Given the description of an element on the screen output the (x, y) to click on. 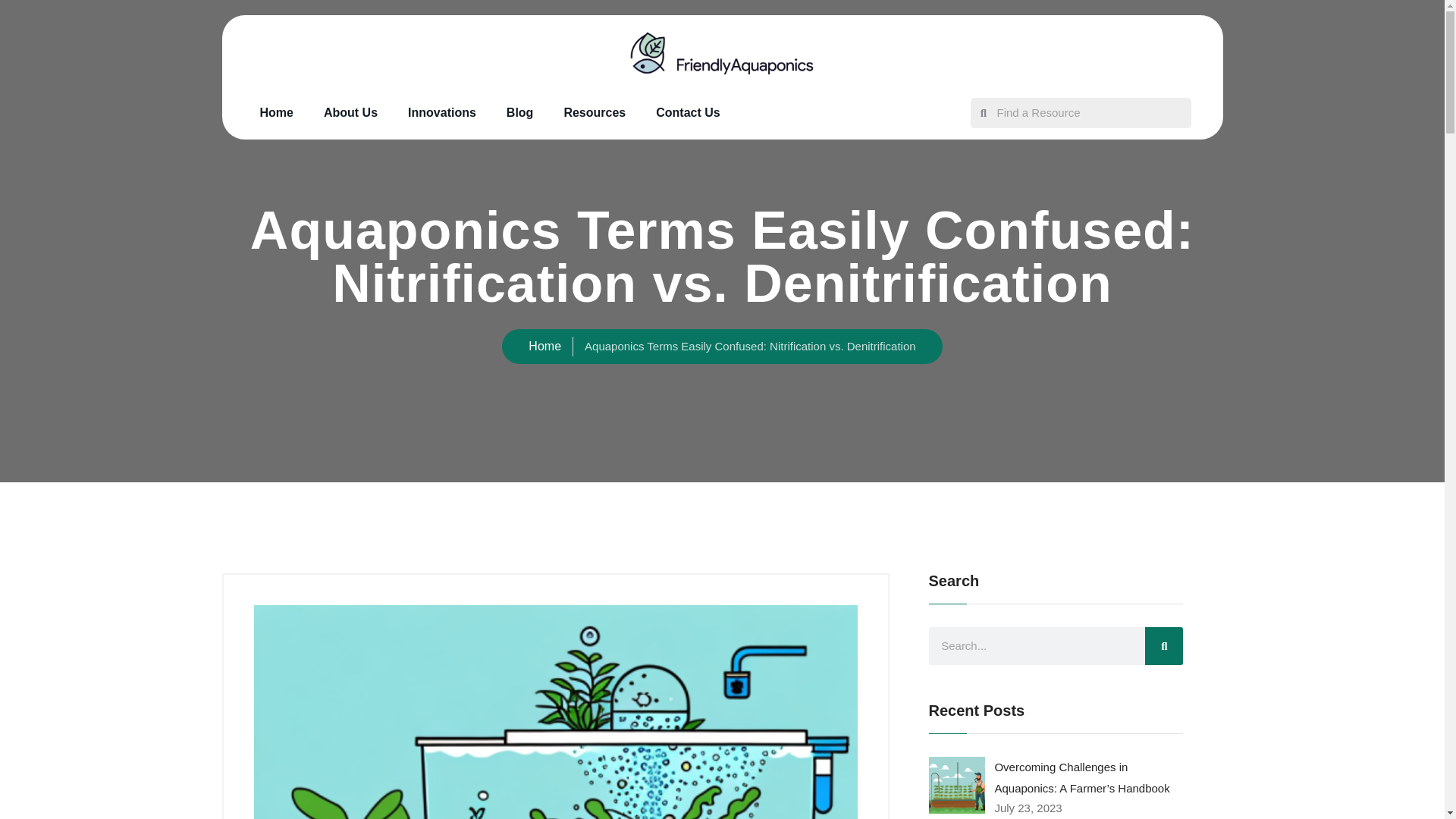
About Us (350, 112)
Contact Us (687, 112)
Home (544, 345)
Innovations (442, 112)
Blog (520, 112)
Resources (594, 112)
Home (275, 112)
